Given the description of an element on the screen output the (x, y) to click on. 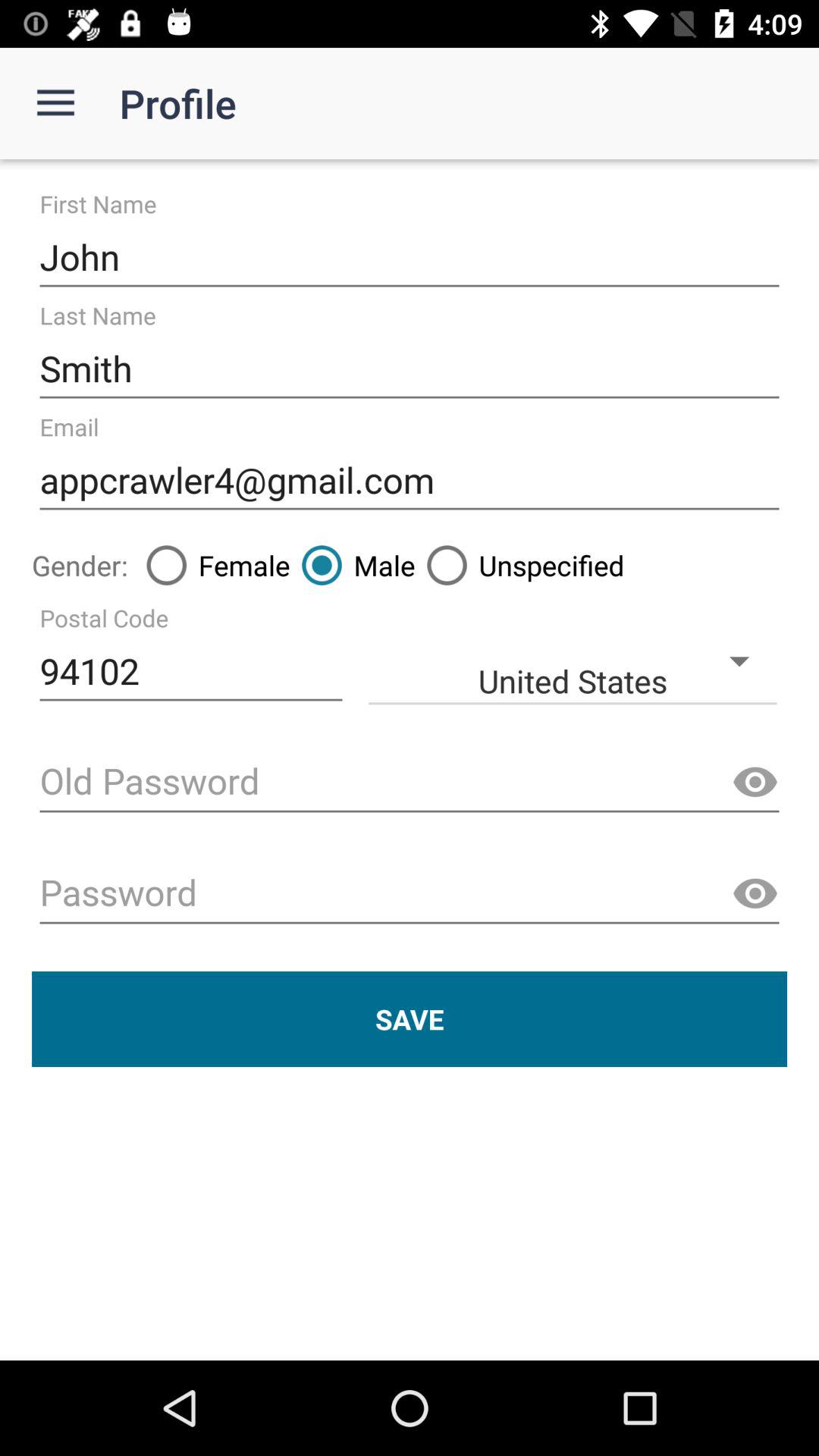
press the 94102 icon (190, 671)
